Given the description of an element on the screen output the (x, y) to click on. 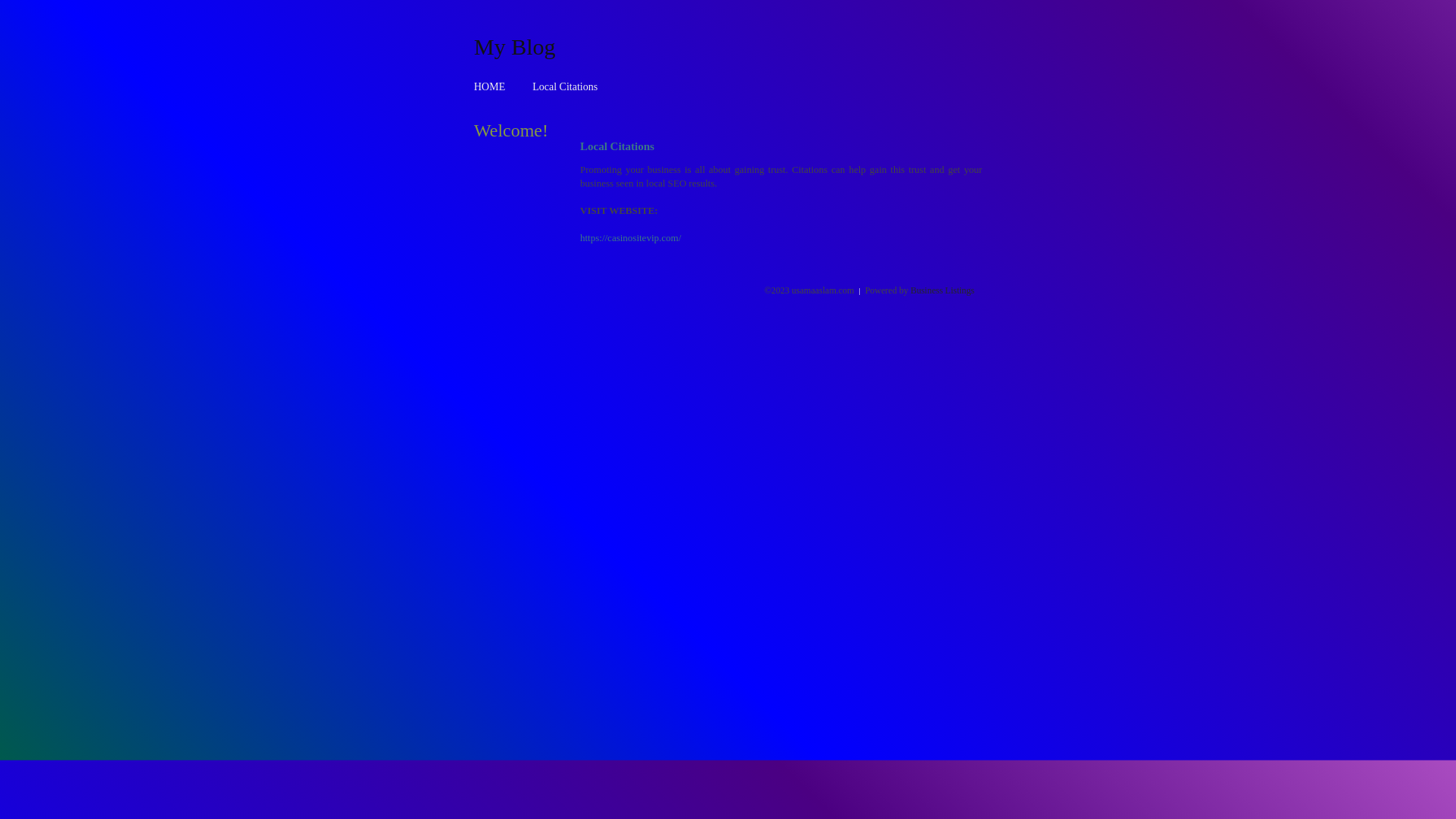
HOME Element type: text (489, 86)
My Blog Element type: text (514, 46)
Business Listings Element type: text (942, 290)
https://casinositevip.com/ Element type: text (630, 237)
Local Citations Element type: text (564, 86)
